Given the description of an element on the screen output the (x, y) to click on. 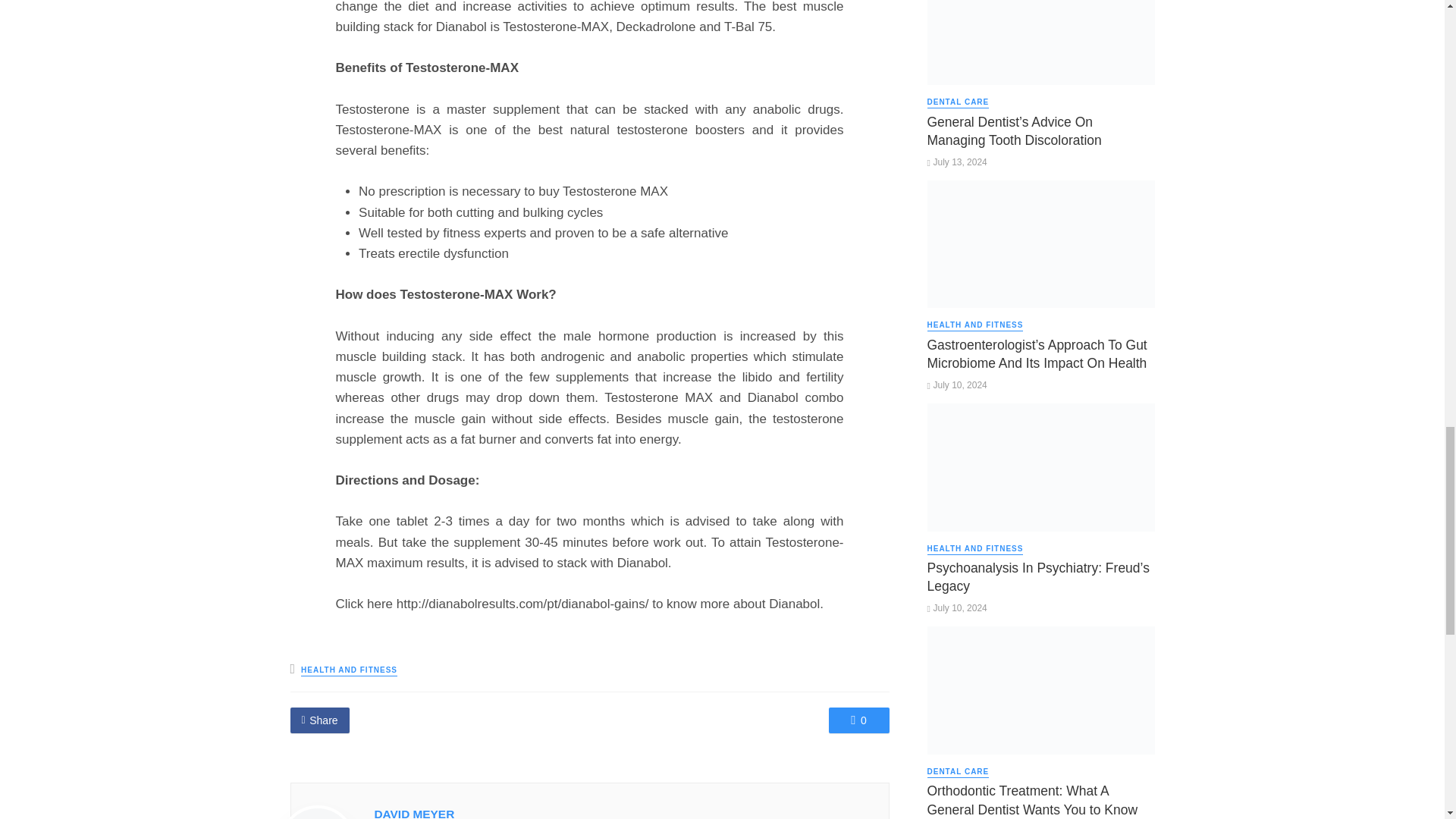
HEALTH AND FITNESS (349, 670)
Share (319, 720)
Posts by David Meyer (414, 813)
0 (858, 720)
Share on Facebook (319, 720)
0 Comments (858, 720)
DAVID MEYER (414, 813)
